Given the description of an element on the screen output the (x, y) to click on. 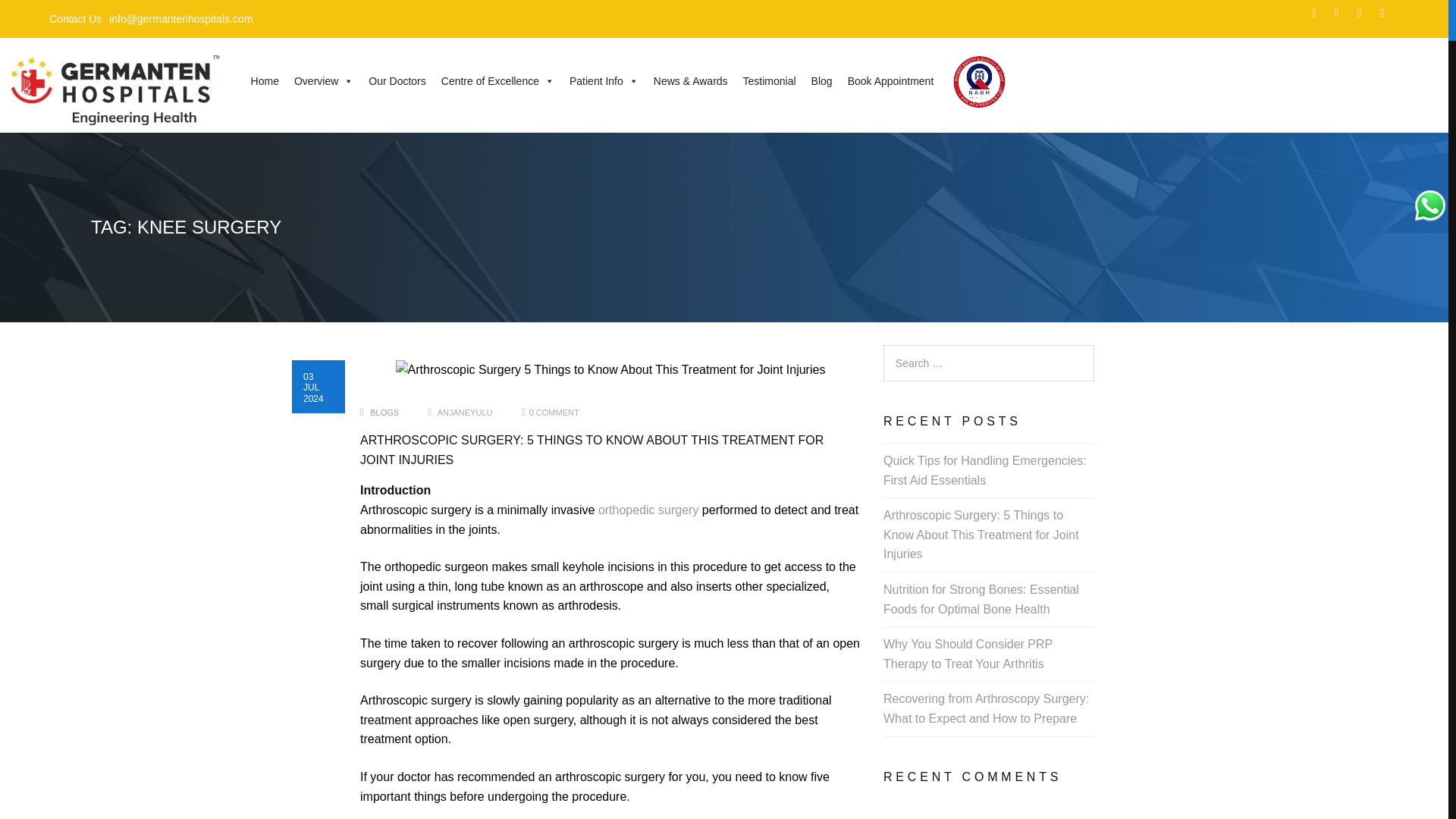
Home (264, 81)
Contact Us (75, 19)
Centre of Excellence (497, 81)
Overview (323, 81)
Our Doctors (396, 81)
